Given the description of an element on the screen output the (x, y) to click on. 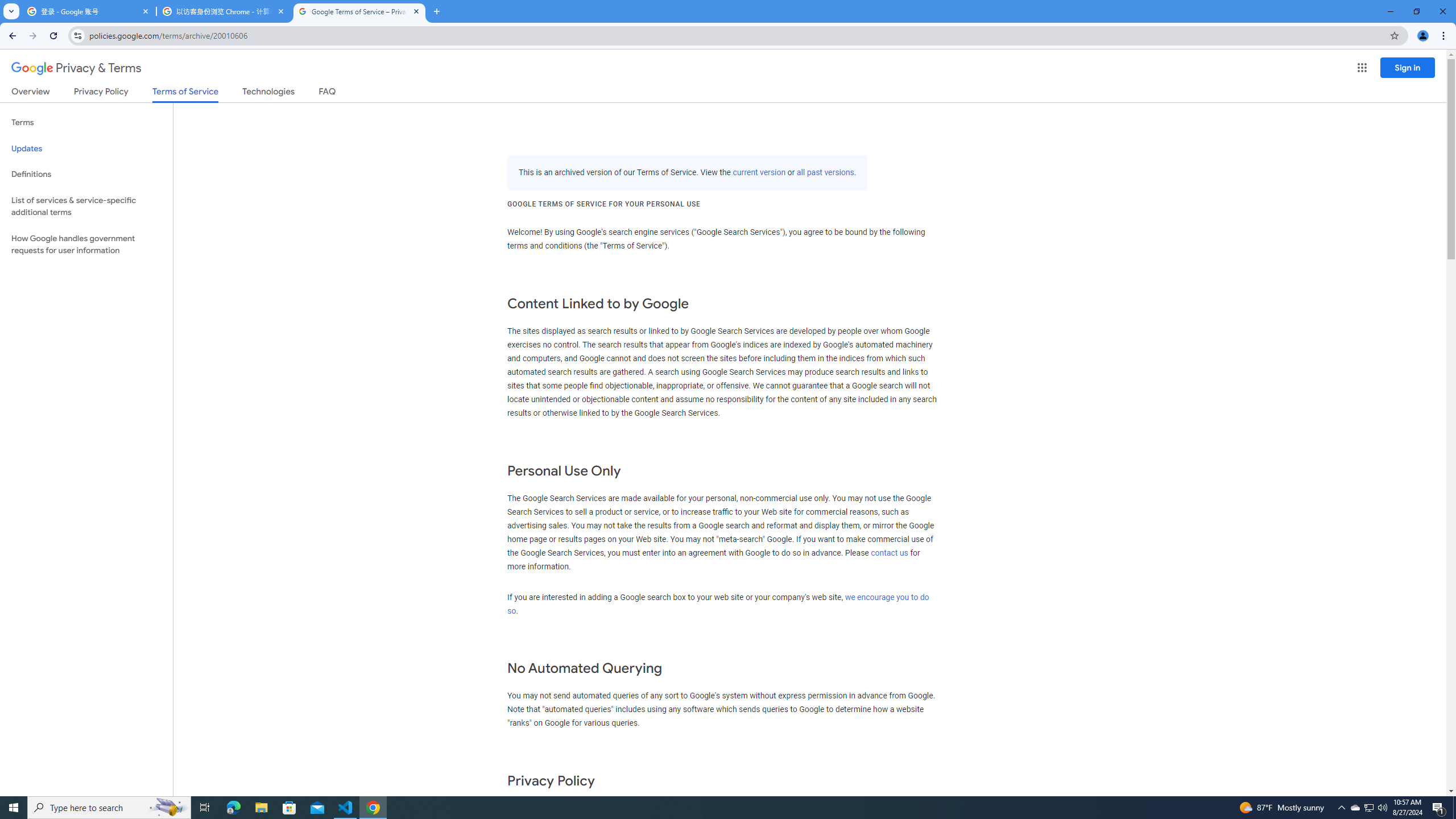
List of services & service-specific additional terms (86, 206)
contact us (889, 552)
all past versions (825, 172)
current version (759, 172)
How Google handles government requests for user information (86, 244)
